Given the description of an element on the screen output the (x, y) to click on. 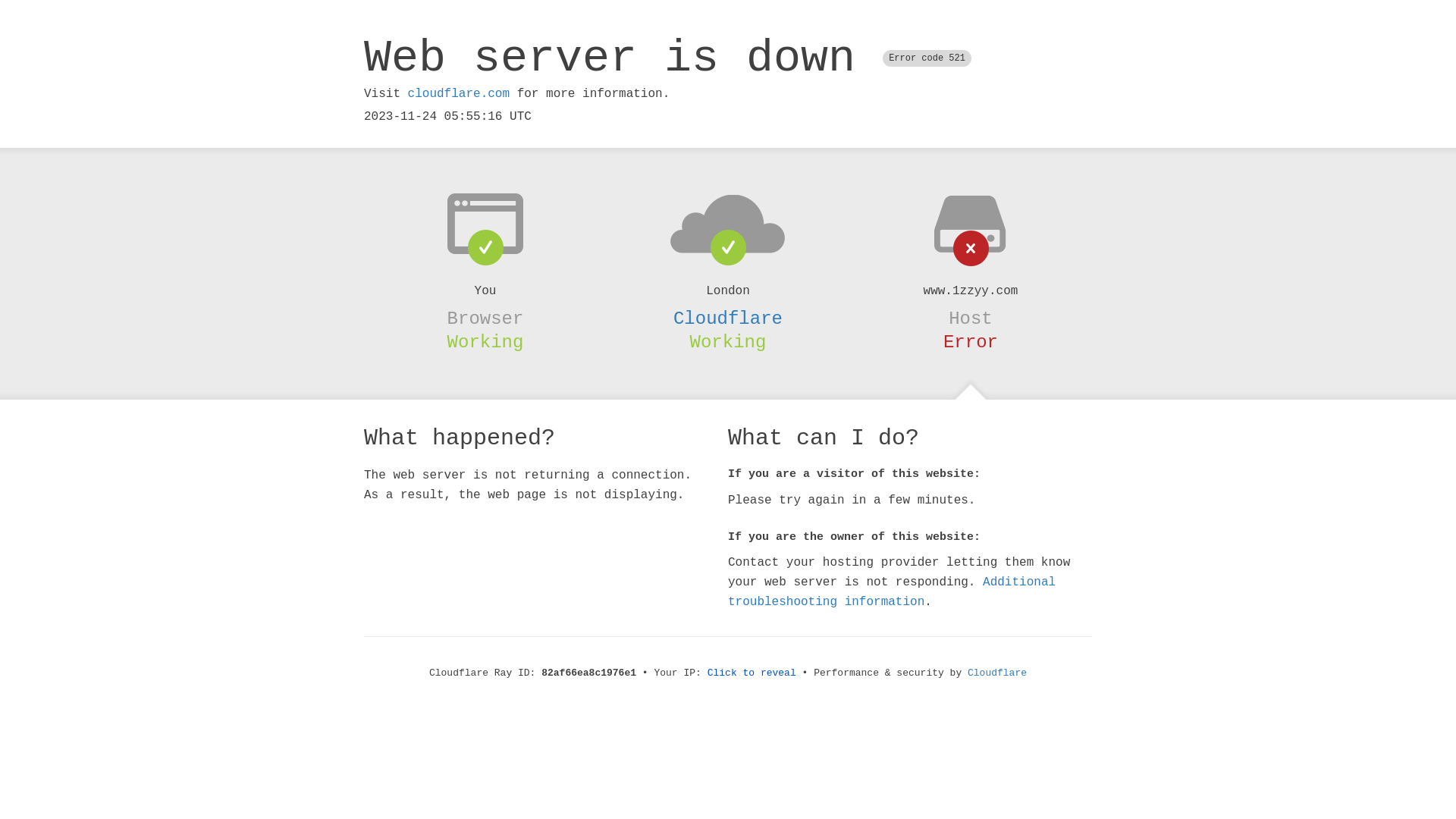
Additional troubleshooting information Element type: text (891, 591)
Click to reveal Element type: text (751, 672)
Cloudflare Element type: text (727, 318)
Cloudflare Element type: text (996, 672)
cloudflare.com Element type: text (458, 93)
